Given the description of an element on the screen output the (x, y) to click on. 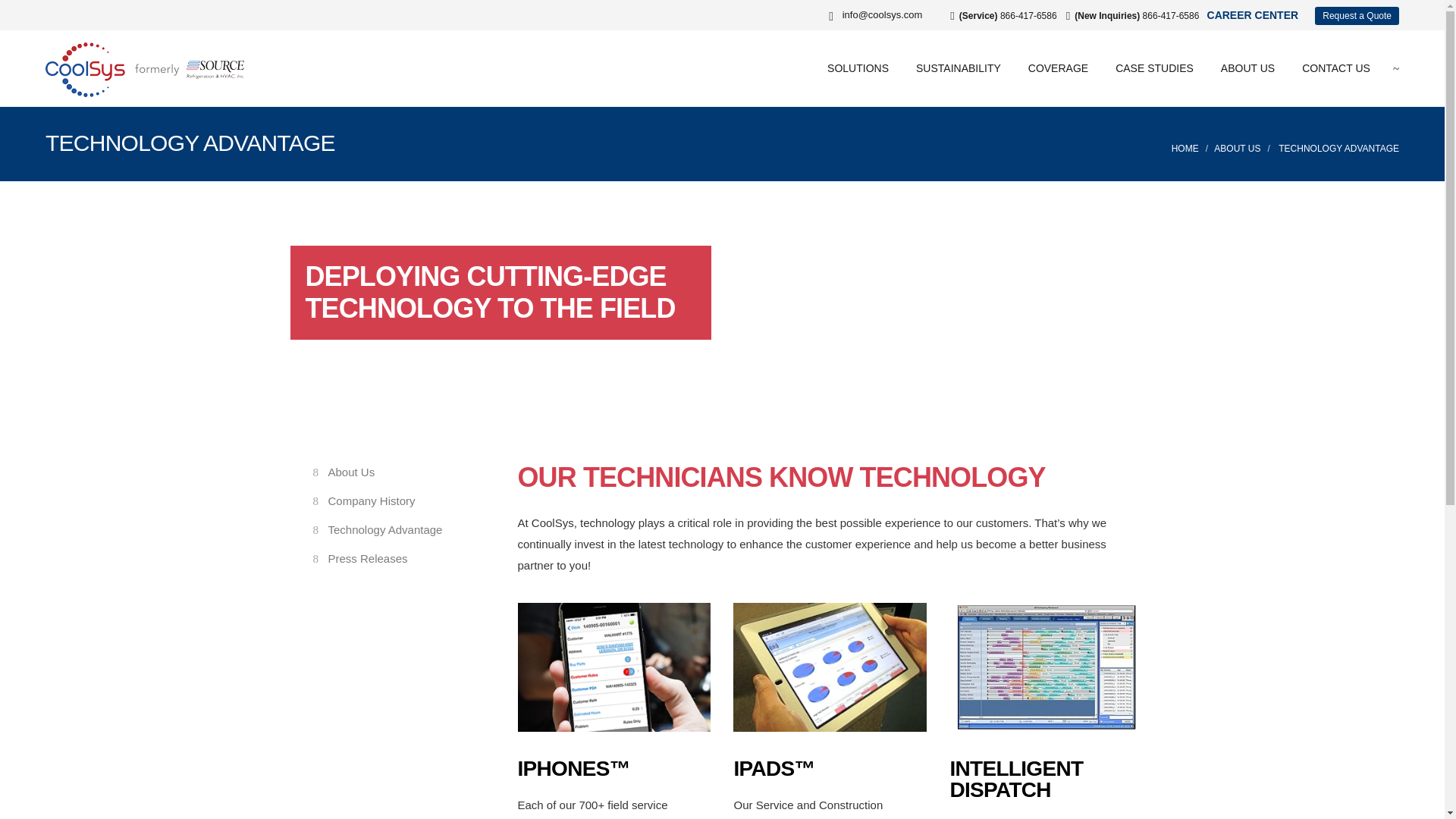
Request a Quote (1356, 15)
CAREER CENTER (1252, 15)
tech1 (613, 667)
HOME (1185, 148)
Company History (370, 500)
tech2 (829, 667)
CASE STUDIES (1154, 68)
ABOUT US (1237, 148)
About Us (350, 472)
Technology Advantage (384, 529)
